Given the description of an element on the screen output the (x, y) to click on. 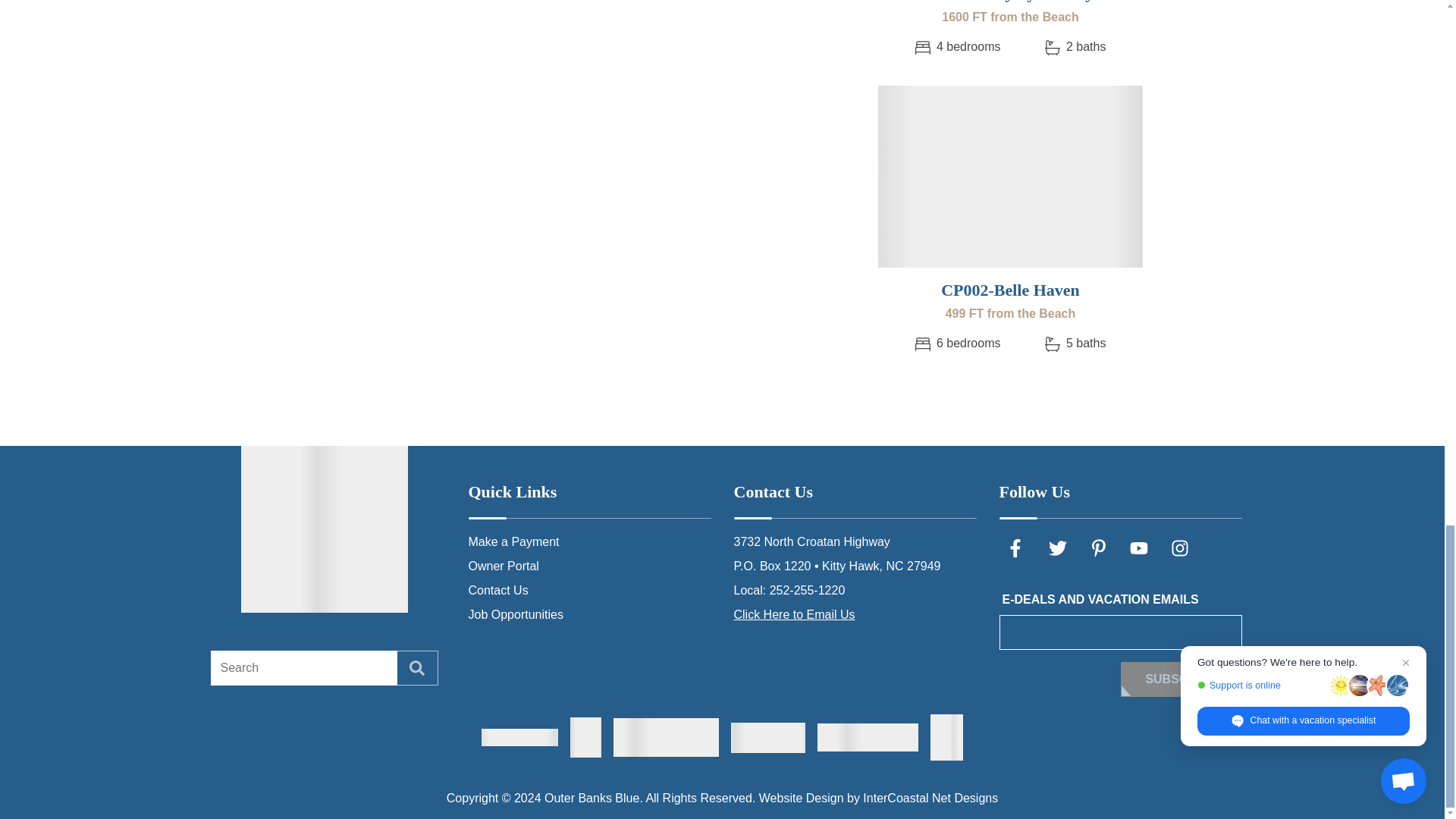
instagram (1179, 547)
pinterest (1098, 547)
youtube (1139, 547)
twitter (1057, 547)
facebook (1016, 547)
